Given the description of an element on the screen output the (x, y) to click on. 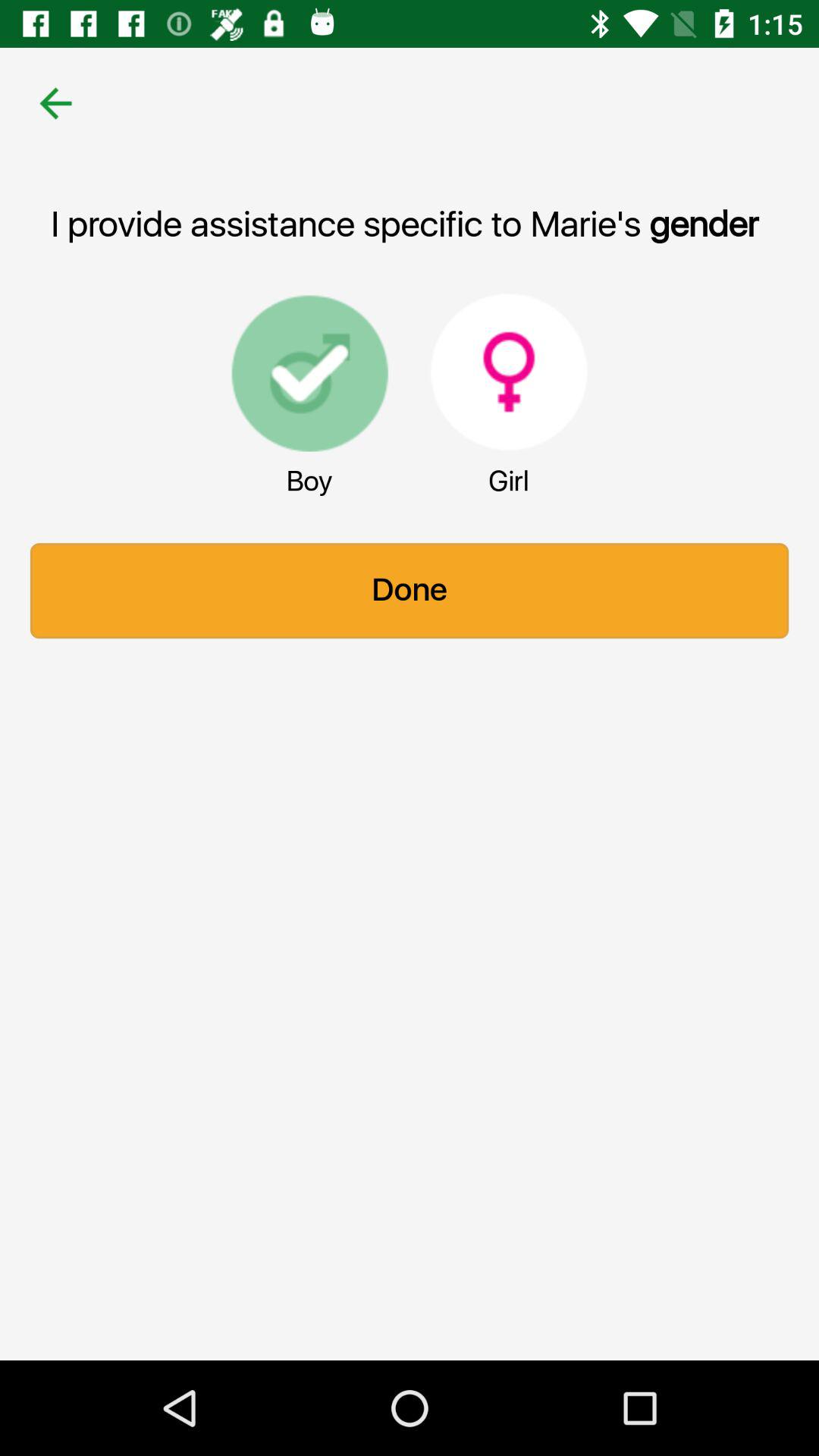
launch icon above girl item (508, 371)
